Given the description of an element on the screen output the (x, y) to click on. 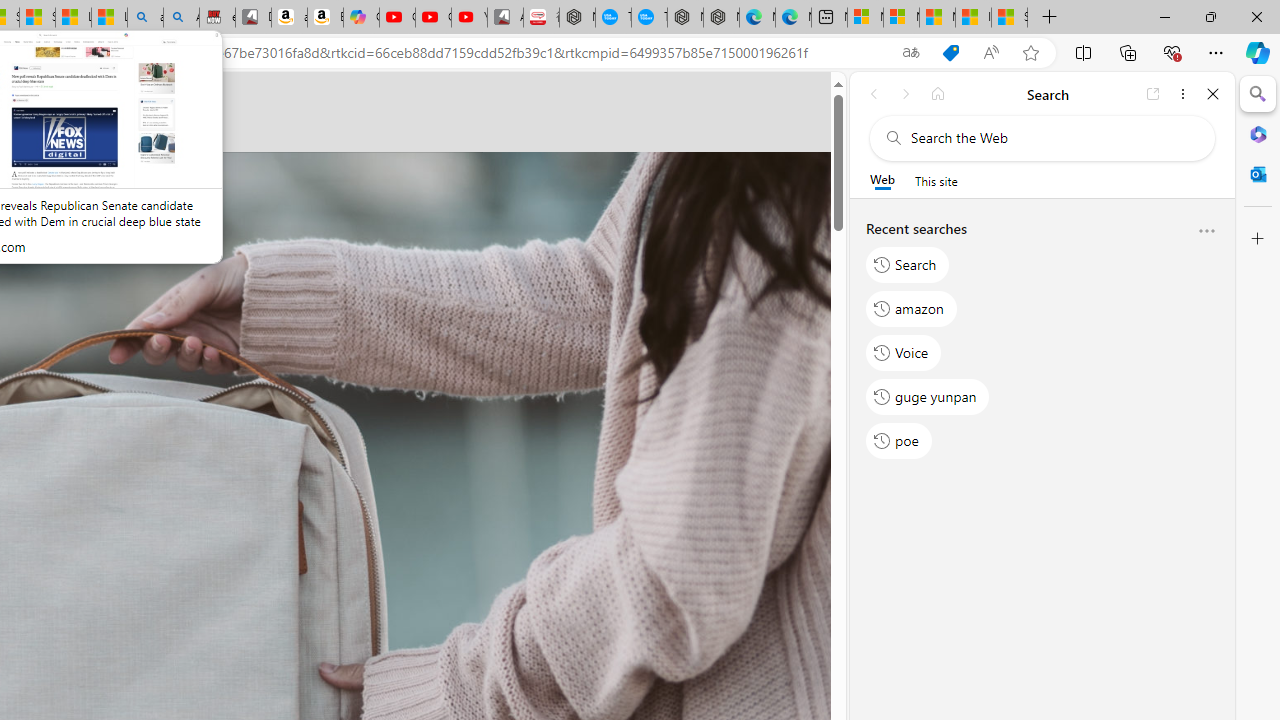
This site scope (936, 180)
Nordace - My Account (577, 17)
Gloom - YouTube (433, 17)
The most popular Google 'how to' searches (649, 17)
amazon (911, 308)
Forward (906, 93)
I Gained 20 Pounds of Muscle in 30 Days! | Watch (973, 17)
Voice (904, 352)
